Given the description of an element on the screen output the (x, y) to click on. 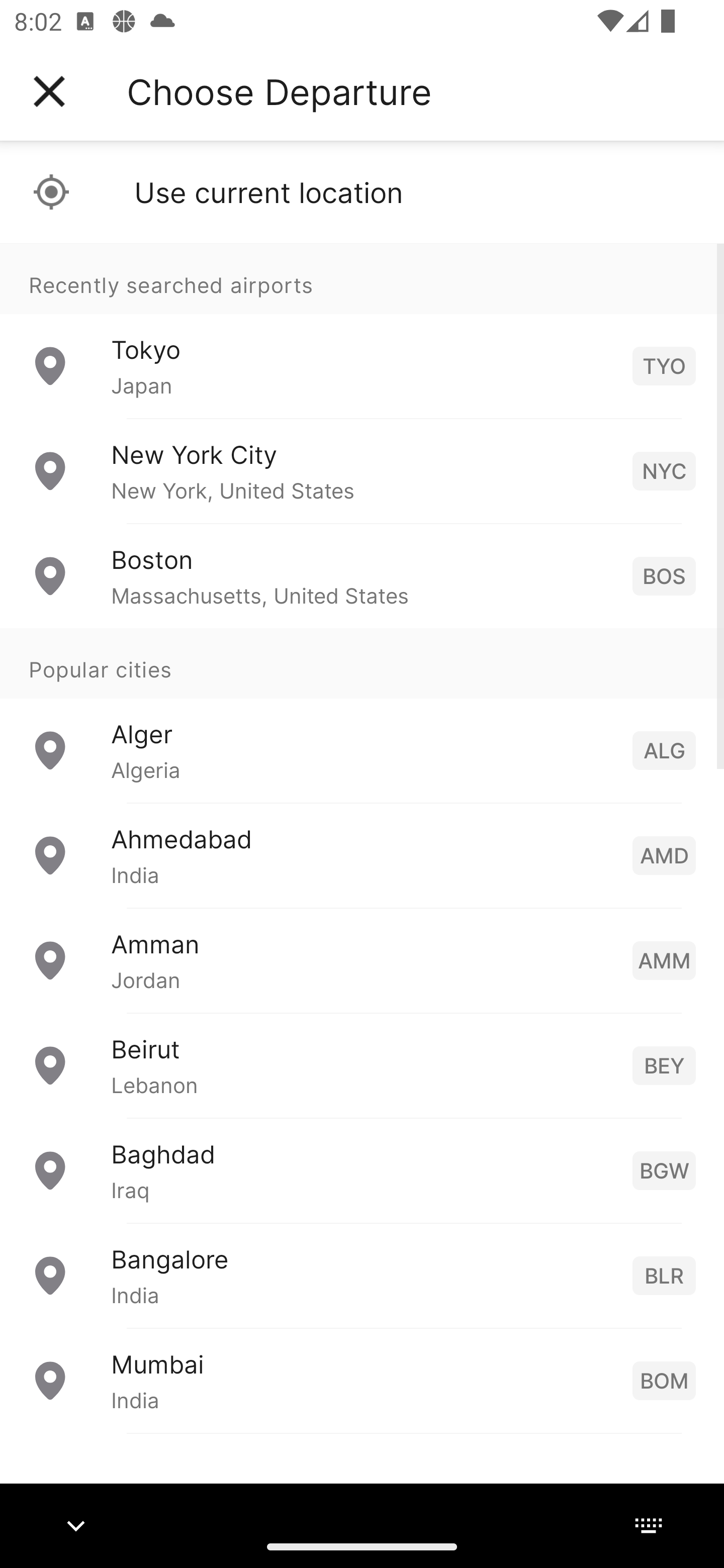
Choose Departure (279, 91)
Use current location (362, 192)
Recently searched airports Tokyo Japan TYO (362, 330)
Recently searched airports (362, 278)
New York City New York, United States NYC (362, 470)
Boston Massachusetts, United States BOS (362, 575)
Popular cities Alger Algeria ALG (362, 715)
Popular cities (362, 663)
Ahmedabad India AMD (362, 854)
Amman Jordan AMM (362, 959)
Beirut Lebanon BEY (362, 1064)
Baghdad Iraq BGW (362, 1170)
Bangalore India BLR (362, 1275)
Mumbai India BOM (362, 1380)
